Given the description of an element on the screen output the (x, y) to click on. 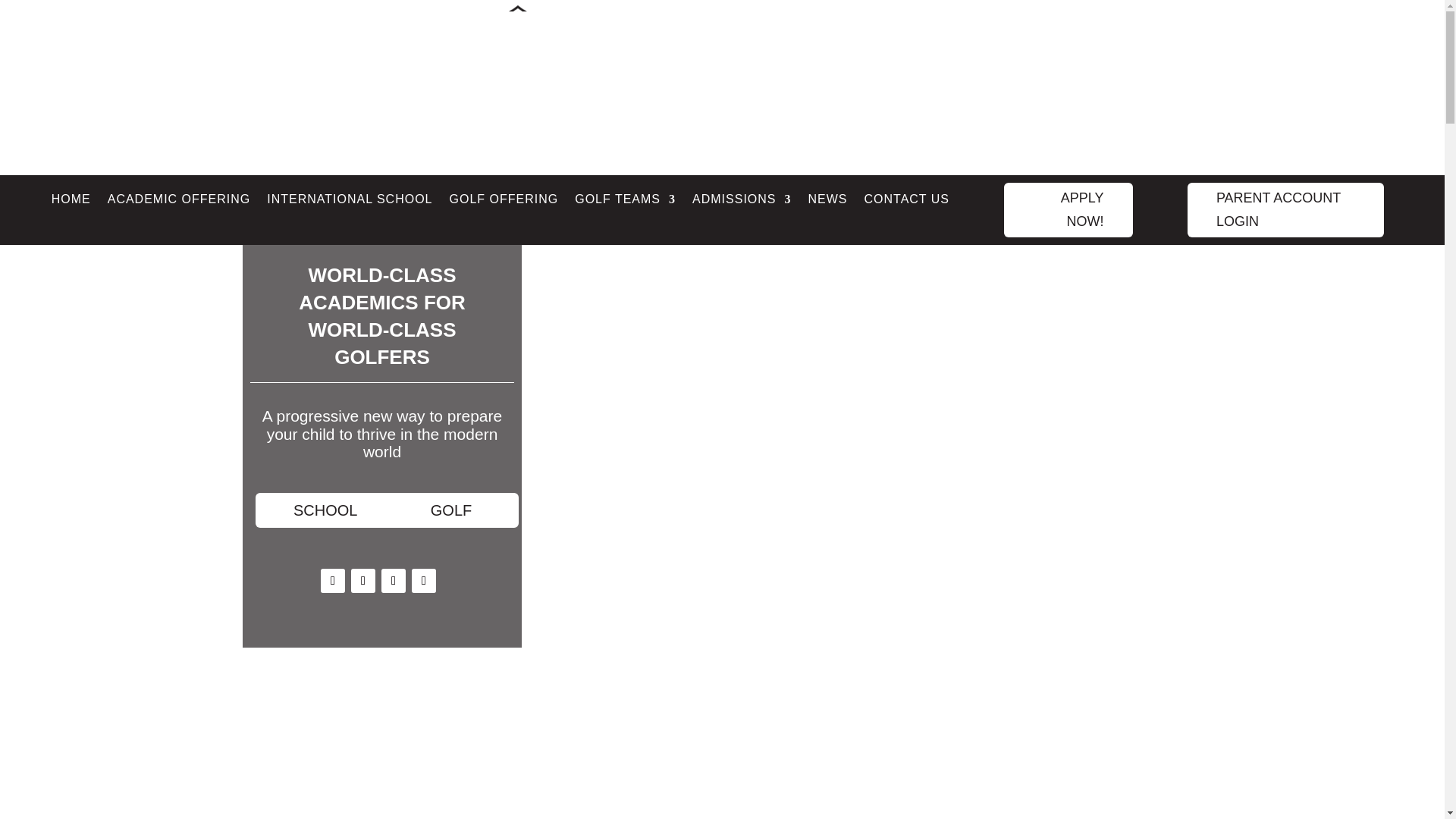
ADMISSIONS (741, 202)
Follow on Twitter (362, 580)
HOME (70, 202)
Follow on Youtube (423, 580)
Follow on Instagram (393, 580)
SCHOOL (325, 510)
GOLF OFFERING (504, 202)
ACADEMIC OFFERING (178, 202)
INTERNATIONAL SCHOOL (349, 202)
Follow on Facebook (332, 580)
